Given the description of an element on the screen output the (x, y) to click on. 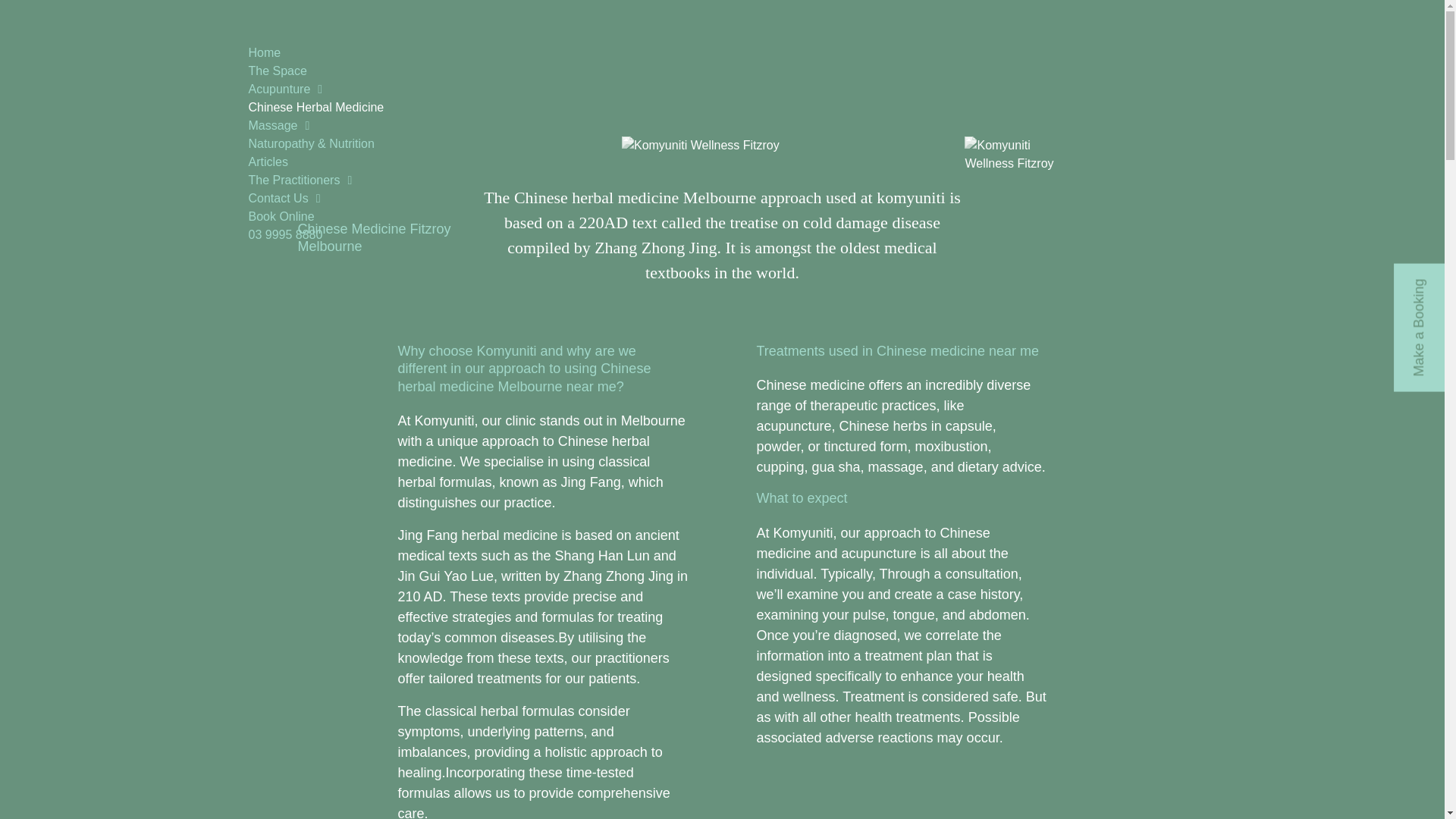
Articles (316, 162)
The Space (316, 71)
Contact Us (316, 198)
The Practitioners (316, 180)
Book Online (316, 217)
Massage (316, 126)
Chinese Herbal Medicine (316, 107)
Acupunture (316, 89)
03 9995 8880 (316, 235)
Home (316, 53)
